Given the description of an element on the screen output the (x, y) to click on. 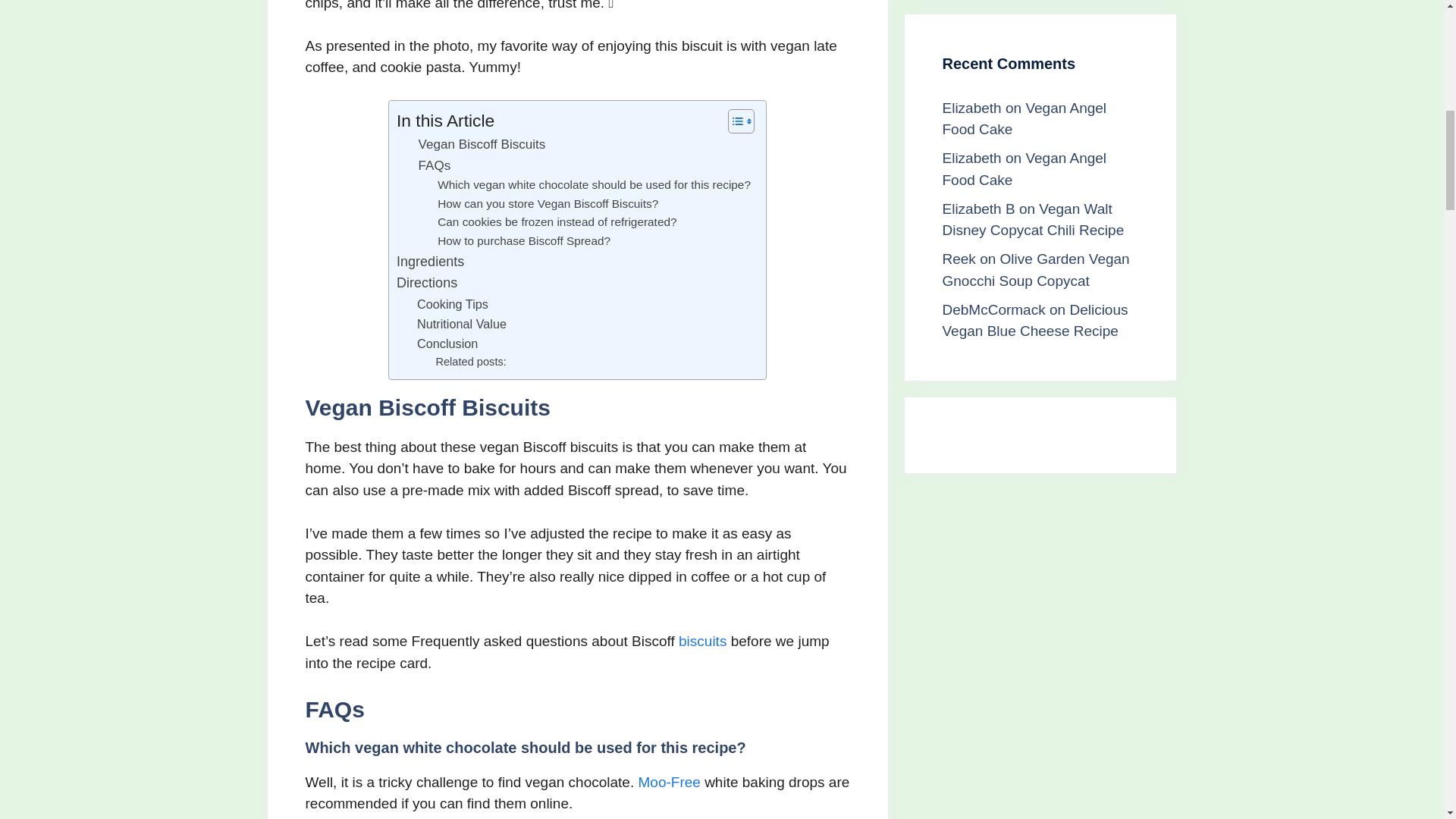
Conclusion (446, 342)
Related posts: (470, 361)
biscuits (702, 641)
Can cookies be frozen instead of refrigerated? (557, 221)
Vegan Biscoff Biscuits (482, 144)
Which vegan white chocolate should be used for this recipe? (594, 185)
FAQs (435, 165)
How to purchase Biscoff Spread? (524, 240)
Which vegan white chocolate should be used for this recipe? (594, 185)
Moo-Free (669, 781)
